Given the description of an element on the screen output the (x, y) to click on. 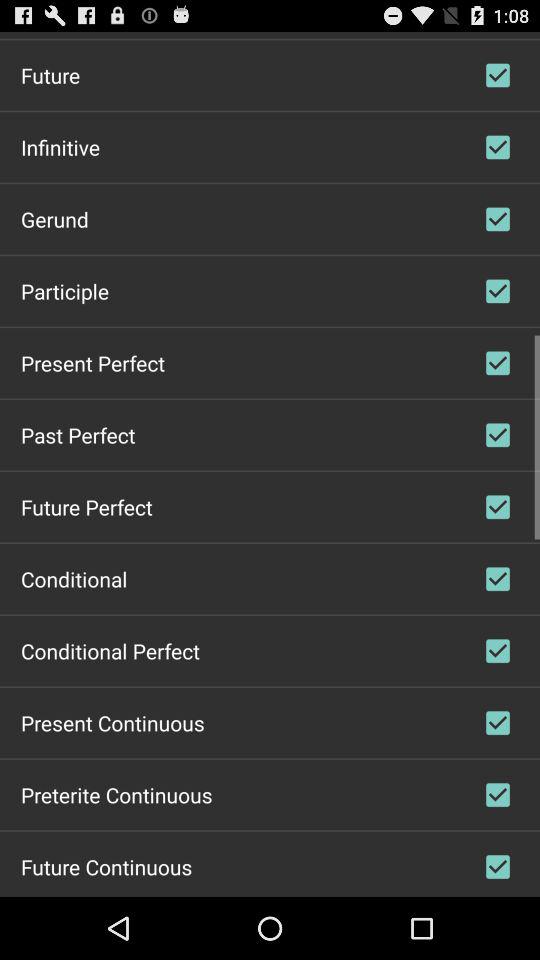
jump until participle item (65, 290)
